Given the description of an element on the screen output the (x, y) to click on. 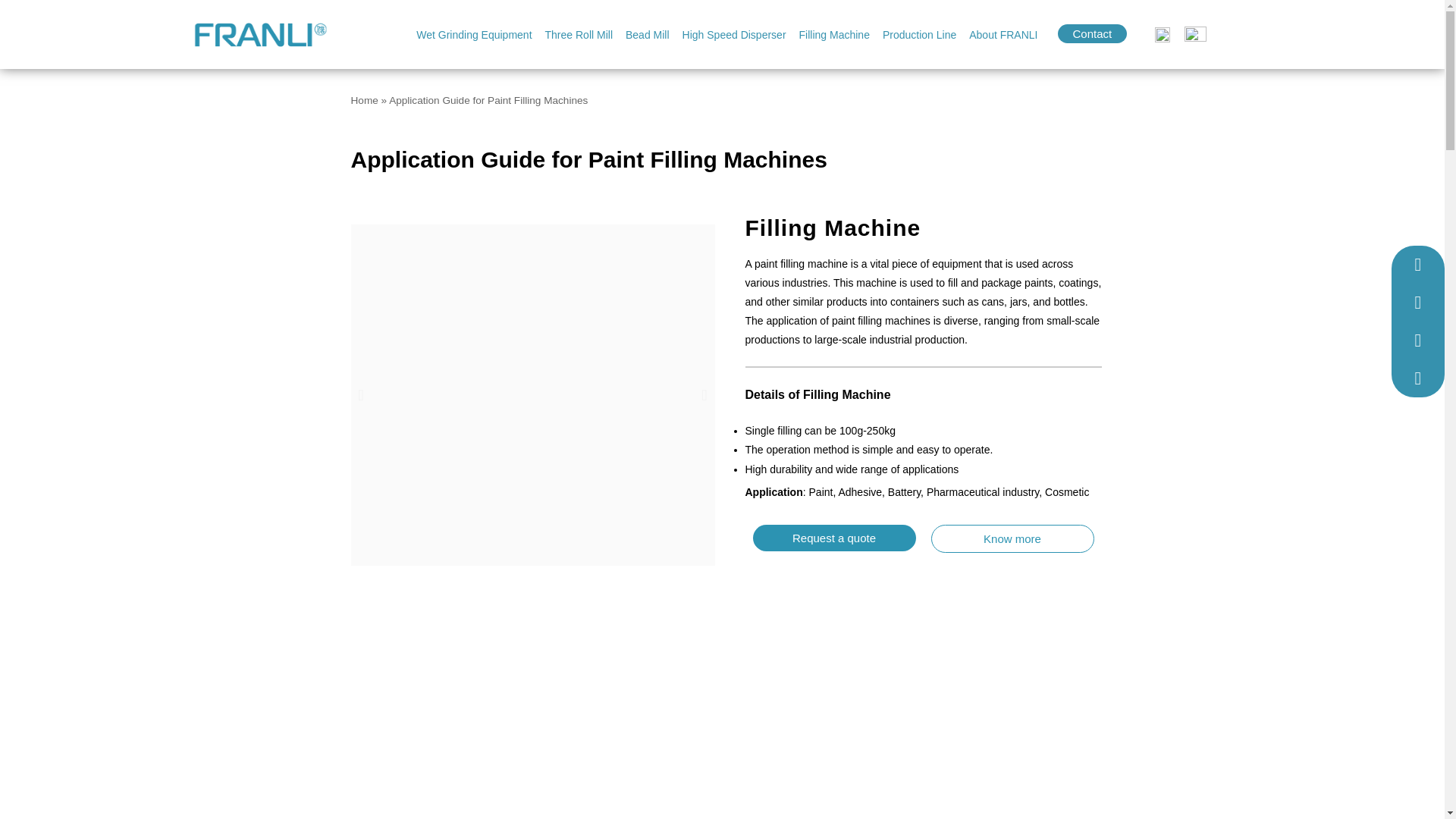
Contact (1091, 33)
Three Roll Mill (578, 34)
Wet Grinding Equipment (473, 34)
Production Line (918, 34)
Bead Mill (647, 34)
Filling Machine (834, 34)
About FRANLI (1002, 34)
High Speed Disperser (734, 34)
